Given the description of an element on the screen output the (x, y) to click on. 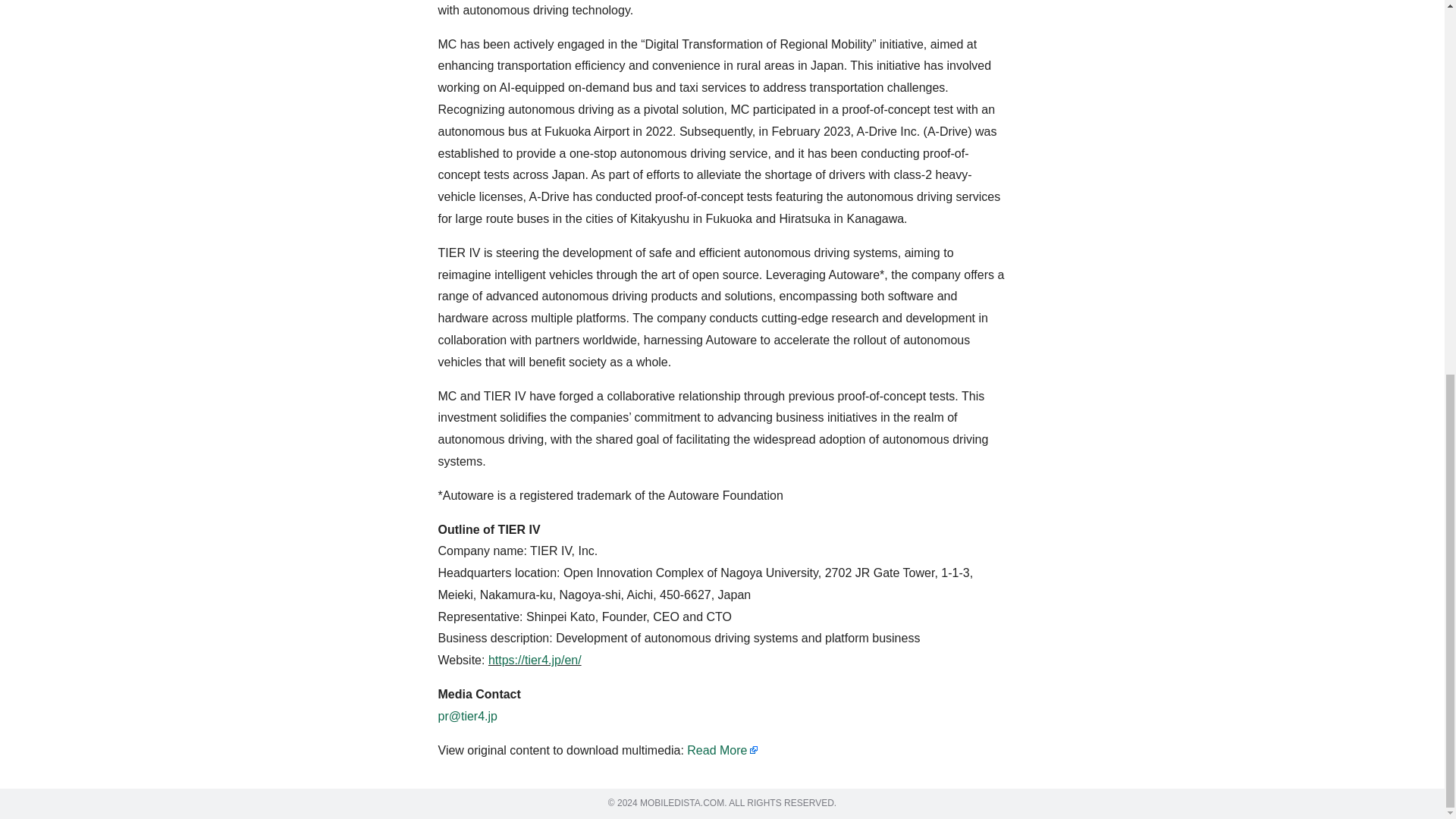
Read More (722, 749)
